Given the description of an element on the screen output the (x, y) to click on. 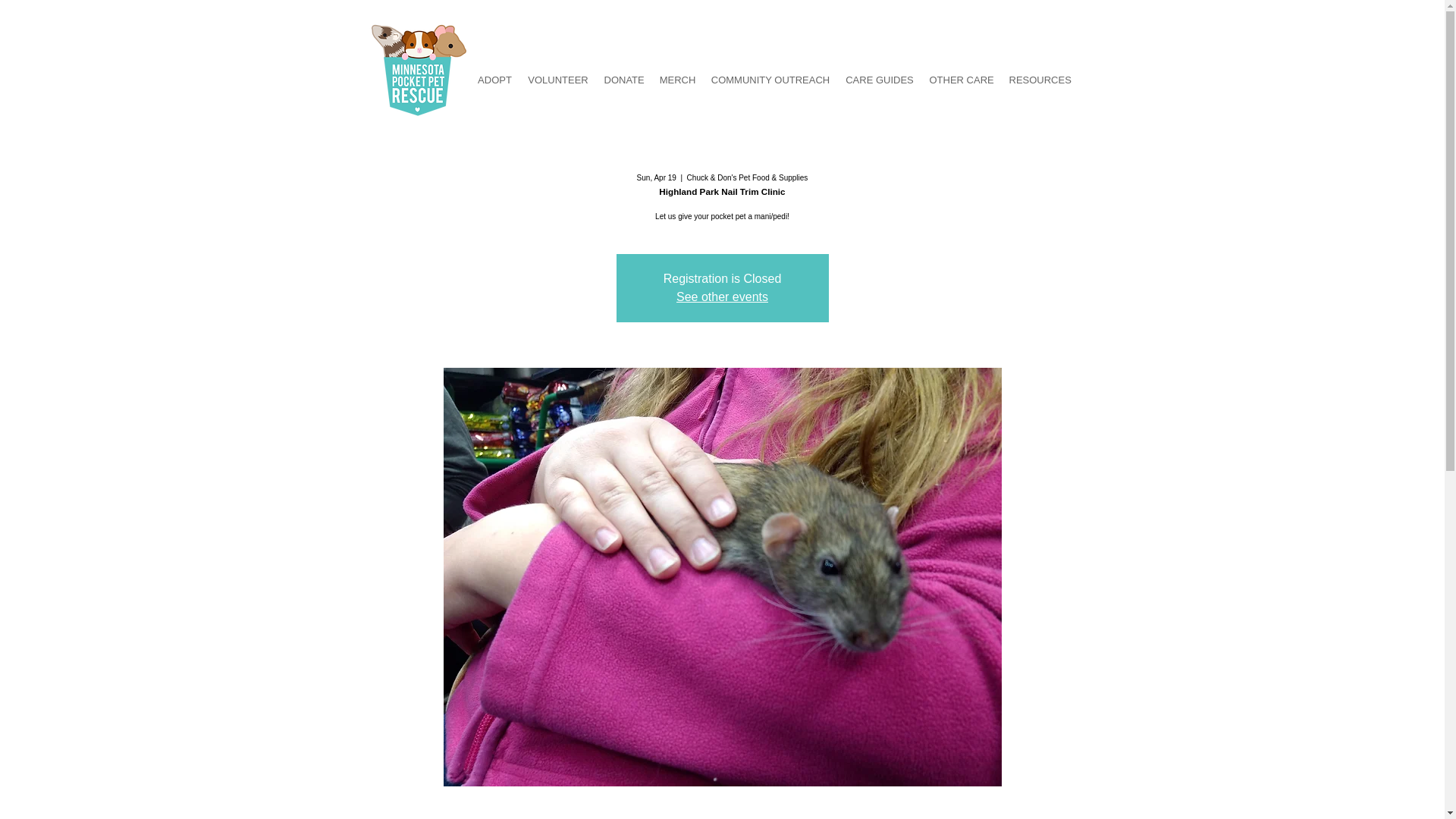
MERCH (677, 80)
ADOPT (494, 80)
DONATE (622, 80)
COMMUNITY OUTREACH (770, 80)
VOLUNTEER (557, 80)
CARE GUIDES (879, 80)
